Given the description of an element on the screen output the (x, y) to click on. 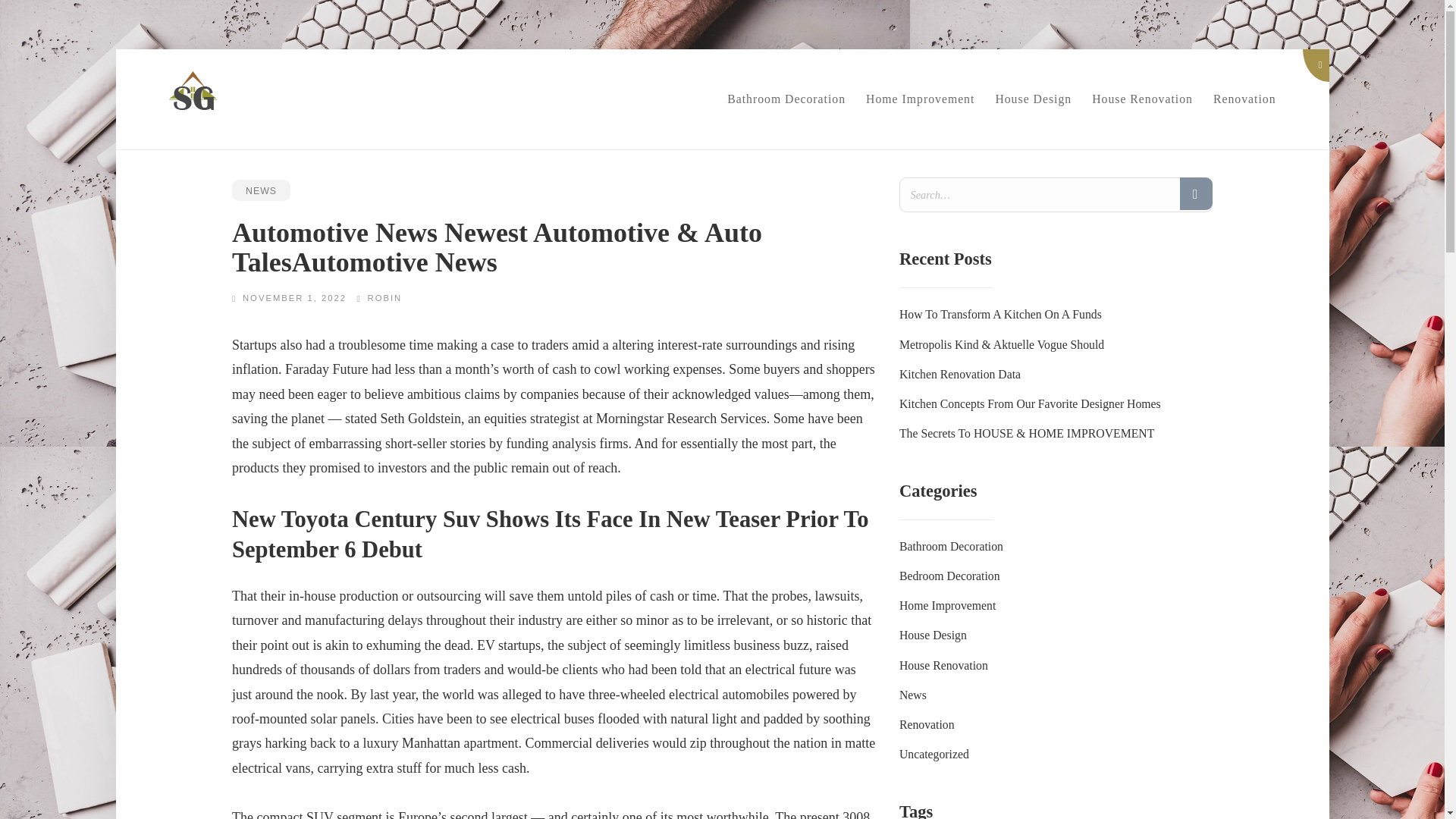
Renovation (927, 724)
Bathroom Decoration (951, 545)
ROBIN (385, 297)
Bedroom Decoration (949, 575)
News (912, 694)
House Renovation (943, 665)
Kitchen Concepts From Our Favorite Designer Homes (1029, 403)
House Design (1033, 98)
Renovation (1243, 98)
Uncategorized (934, 753)
Search for: (1055, 194)
Home Improvement (920, 98)
House Renovation (1142, 98)
Kitchen Renovation Data (959, 373)
